Given the description of an element on the screen output the (x, y) to click on. 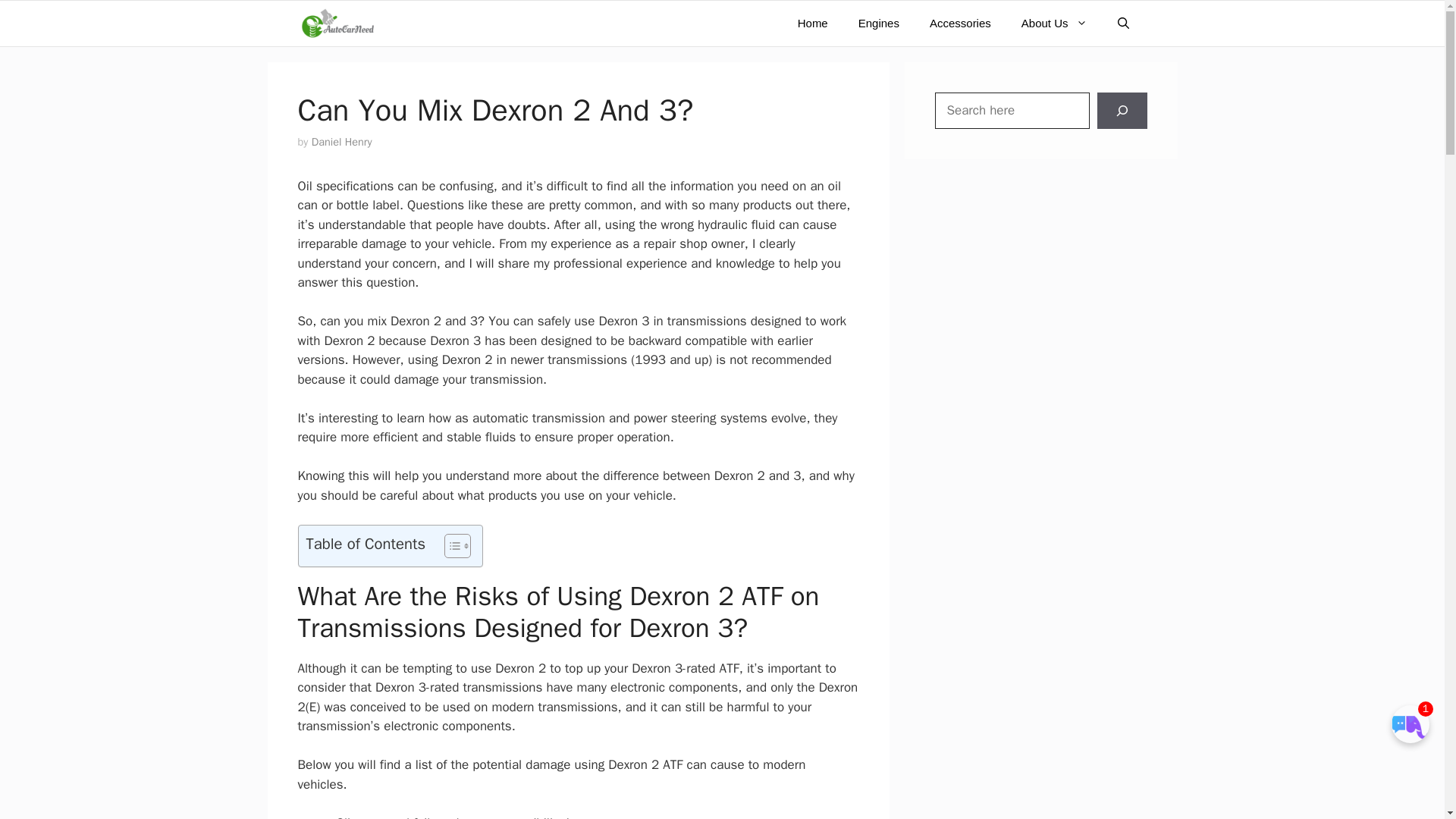
Engines (878, 22)
Accessories (960, 22)
About Us (1054, 22)
Auto Car Need (337, 22)
Home (813, 22)
Daniel Henry (341, 141)
View all posts by Daniel Henry (341, 141)
